Given the description of an element on the screen output the (x, y) to click on. 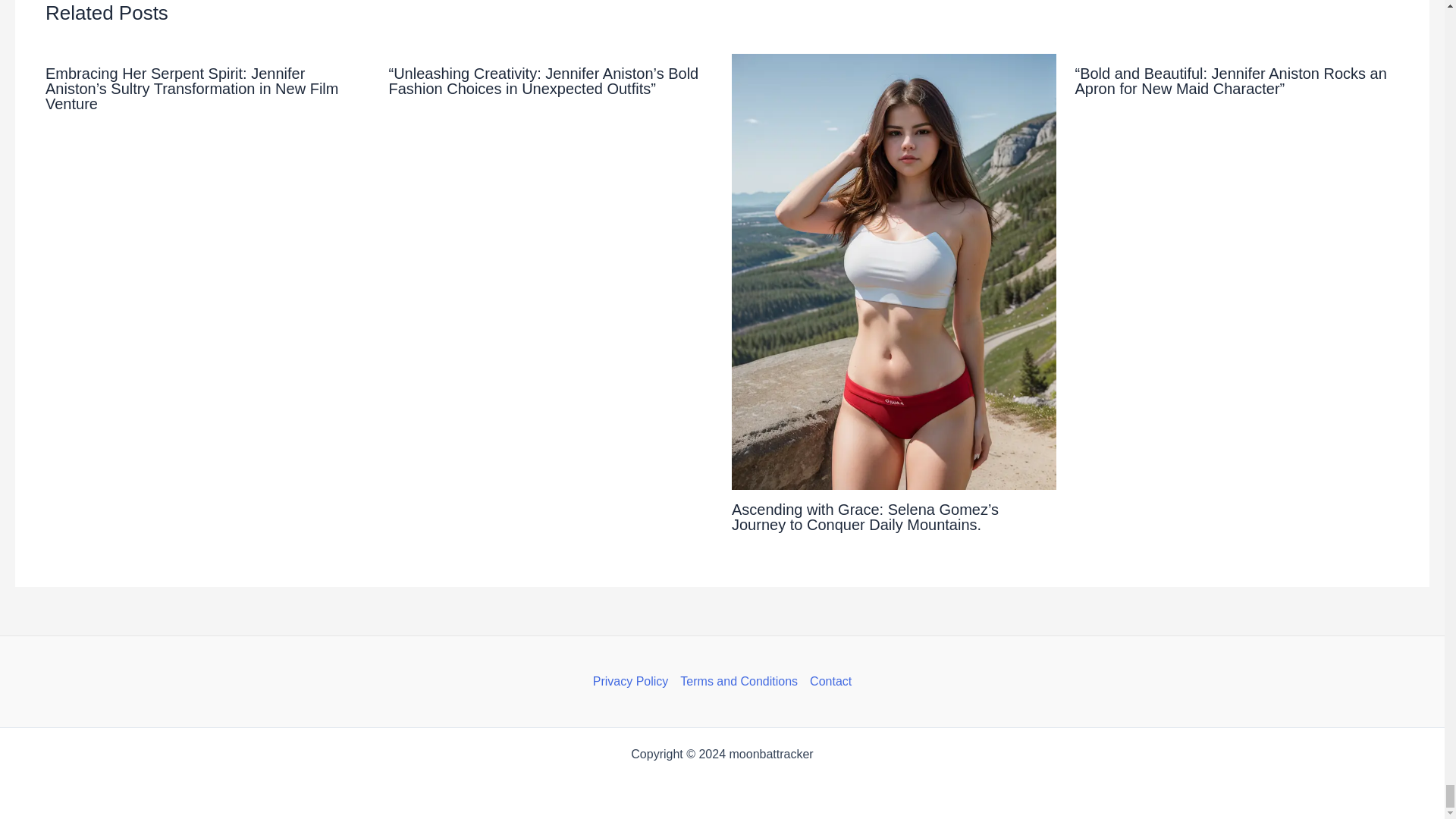
Privacy Policy (633, 681)
Terms and Conditions (738, 681)
Contact (827, 681)
